Given the description of an element on the screen output the (x, y) to click on. 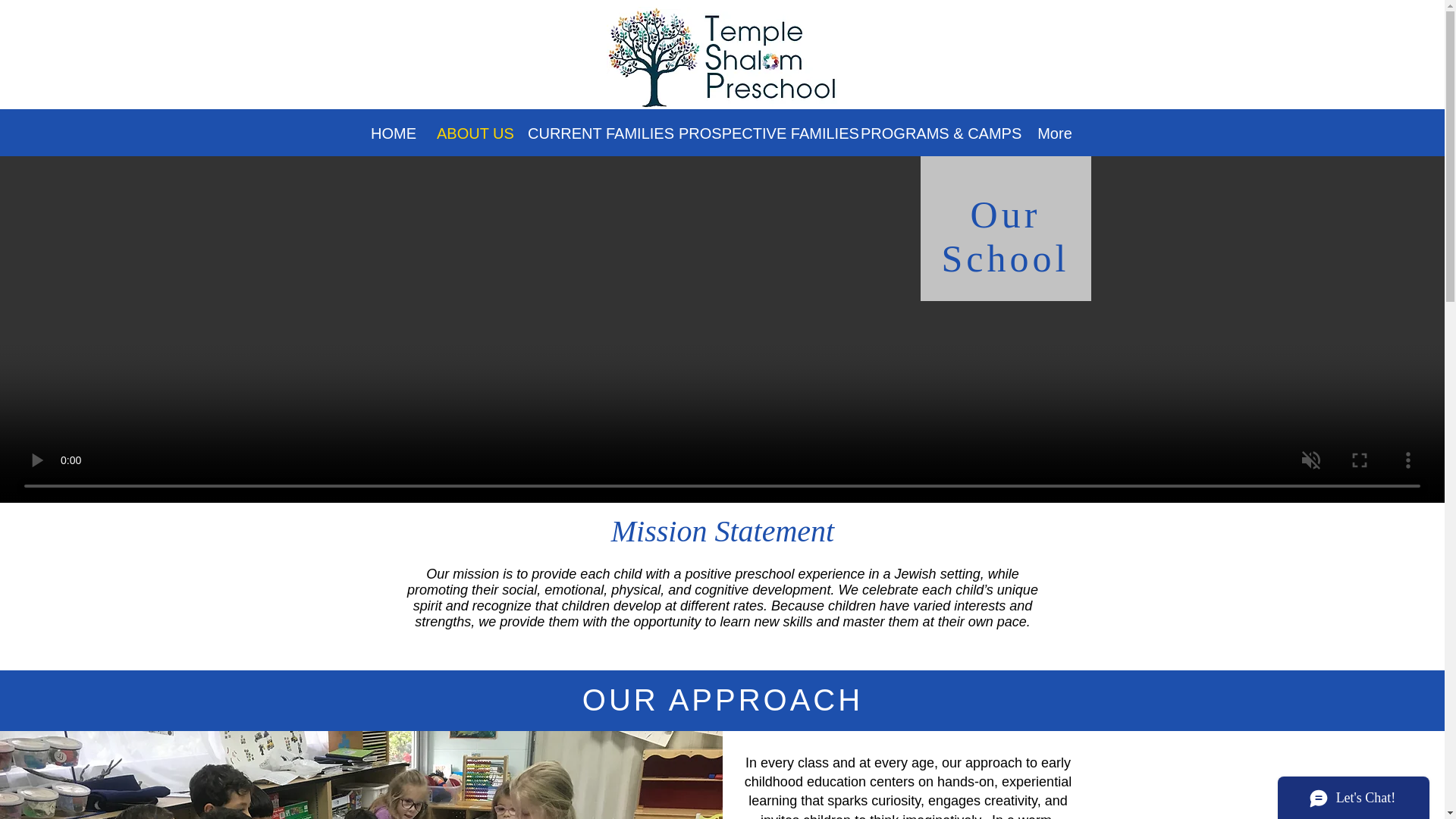
CURRENT FAMILIES (591, 133)
HOME (392, 133)
ABOUT US (470, 133)
PROSPECTIVE FAMILIES (757, 133)
